Given the description of an element on the screen output the (x, y) to click on. 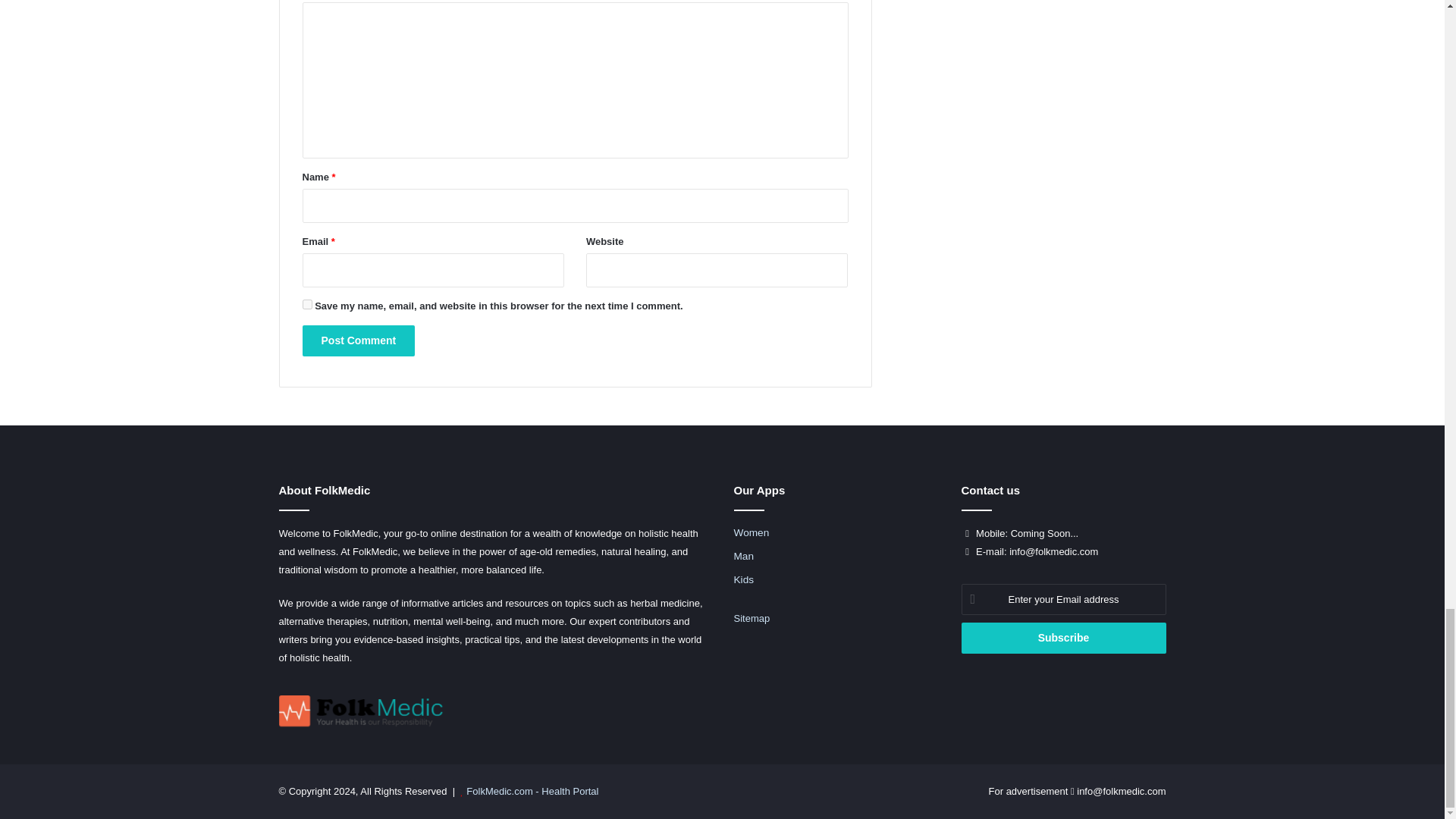
yes (306, 304)
Subscribe (1063, 637)
Post Comment (357, 340)
